Given the description of an element on the screen output the (x, y) to click on. 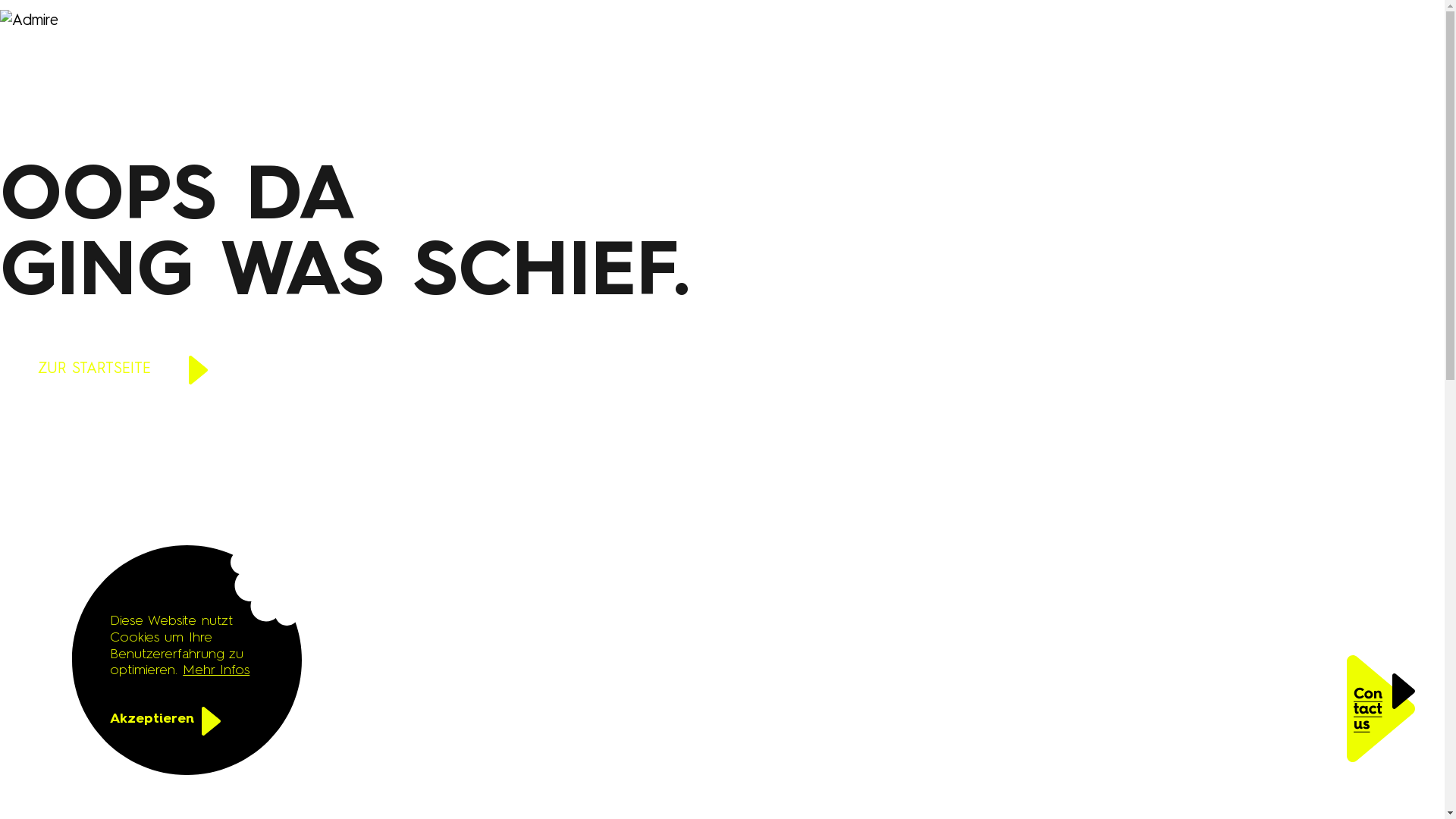
Mehr Infos Element type: text (215, 670)
ZUR STARTSEITE Element type: text (122, 369)
Akzeptieren Element type: text (172, 722)
